Given the description of an element on the screen output the (x, y) to click on. 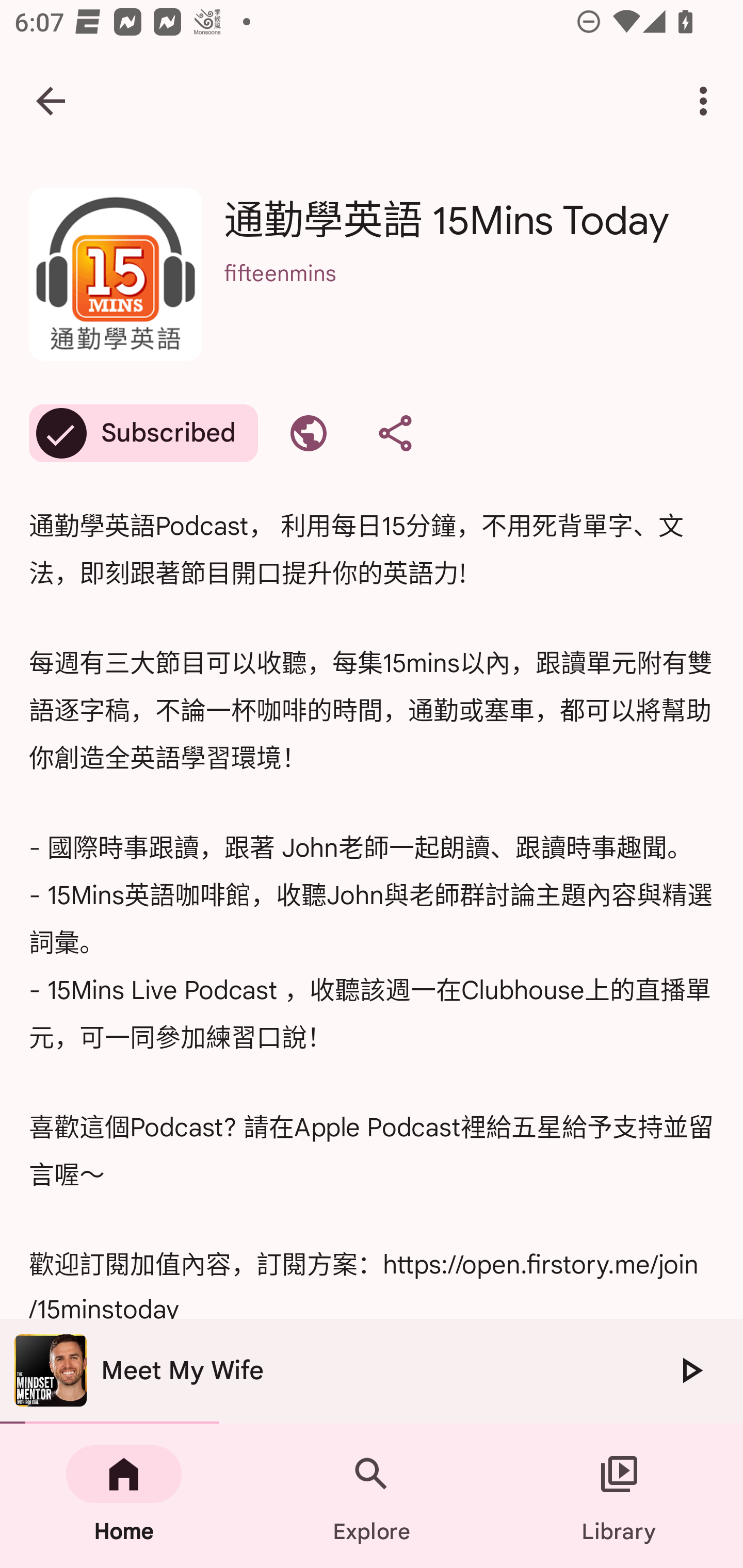
Navigate up (50, 101)
More options (706, 101)
fifteenmins (468, 300)
Subscribed (142, 433)
Visit website (308, 433)
Share (395, 433)
The Mindset Mentor Meet My Wife Play 340.0 (371, 1370)
Play (690, 1370)
Explore (371, 1495)
Library (619, 1495)
